Given the description of an element on the screen output the (x, y) to click on. 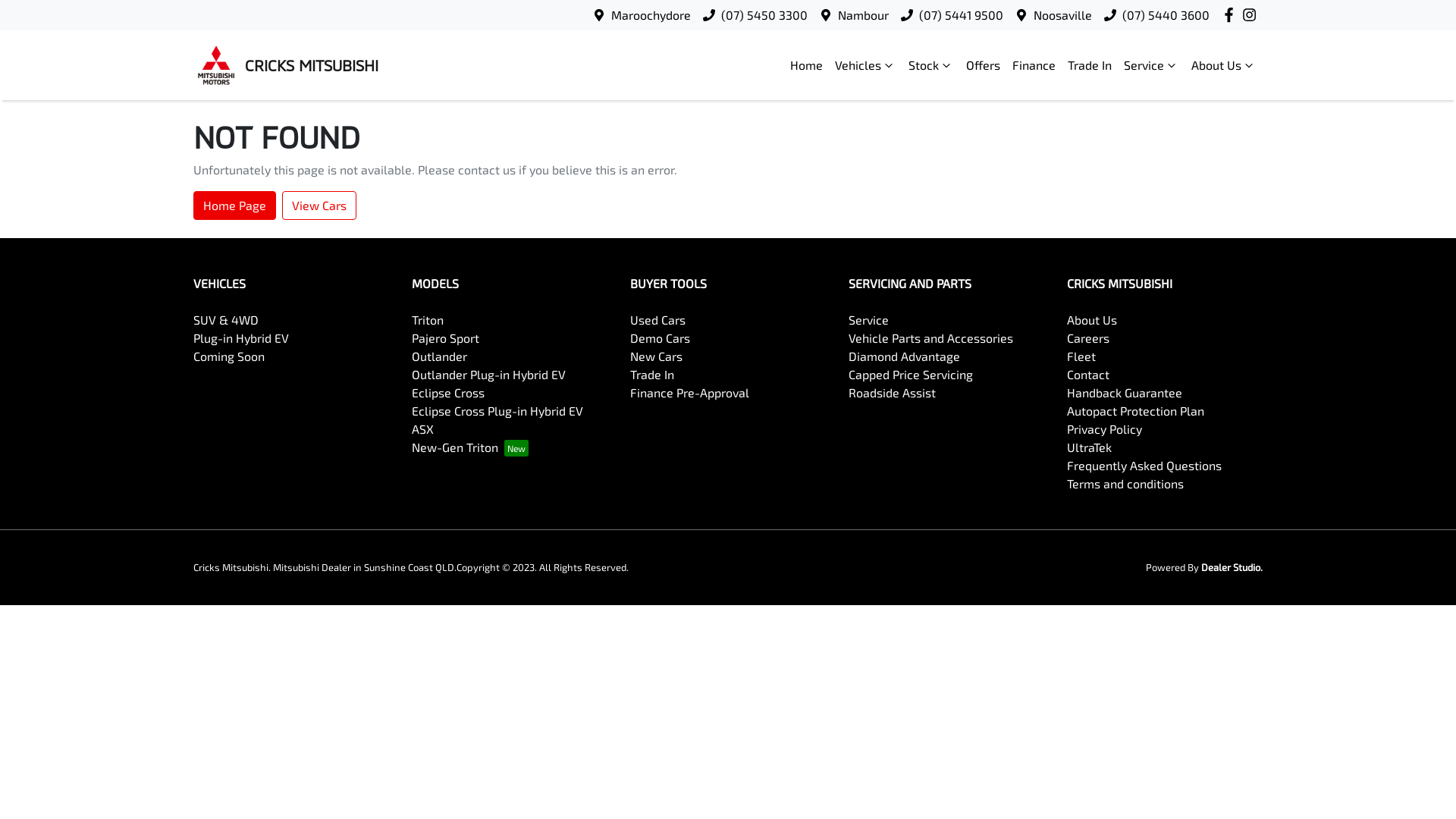
Plug-in Hybrid EV Element type: text (240, 337)
Dealer Studio. Element type: text (1231, 567)
ASX Element type: text (422, 428)
Contact Element type: text (1087, 374)
Service Element type: text (868, 319)
About Us Element type: text (1223, 65)
Careers Element type: text (1087, 337)
Finance Element type: text (1033, 65)
Privacy Policy Element type: text (1104, 428)
Terms and conditions Element type: text (1124, 483)
Trade In Element type: text (1089, 65)
Noosaville Element type: text (1062, 14)
Triton Element type: text (427, 319)
Vehicles Element type: text (865, 65)
(07) 5441 9500 Element type: text (961, 14)
Roadside Assist Element type: text (891, 392)
New-Gen Triton Element type: text (469, 446)
Offers Element type: text (983, 65)
Trade In Element type: text (652, 374)
UltraTek Element type: text (1088, 446)
Fleet Element type: text (1080, 355)
Autopact Protection Plan Element type: text (1135, 410)
Service Element type: text (1151, 65)
Vehicle Parts and Accessories Element type: text (930, 337)
Capped Price Servicing Element type: text (910, 374)
About Us Element type: text (1091, 319)
View Cars Element type: text (319, 205)
CRICKS MITSUBISHI Element type: text (285, 65)
Outlander Plug-in Hybrid EV Element type: text (488, 374)
Eclipse Cross Element type: text (447, 392)
Used Cars Element type: text (657, 319)
Home Page Element type: text (234, 205)
New Cars Element type: text (656, 355)
Outlander Element type: text (439, 355)
SUV & 4WD Element type: text (225, 319)
Stock Element type: text (931, 65)
Pajero Sport Element type: text (445, 337)
(07) 5450 3300 Element type: text (764, 14)
Frequently Asked Questions Element type: text (1143, 465)
Eclipse Cross Plug-in Hybrid EV Element type: text (497, 410)
Handback Guarantee Element type: text (1124, 392)
Home Element type: text (806, 65)
Diamond Advantage Element type: text (904, 355)
Coming Soon Element type: text (228, 355)
(07) 5440 3600 Element type: text (1165, 14)
Nambour Element type: text (862, 14)
Maroochydore Element type: text (650, 14)
Finance Pre-Approval Element type: text (689, 392)
Demo Cars Element type: text (660, 337)
